Given the description of an element on the screen output the (x, y) to click on. 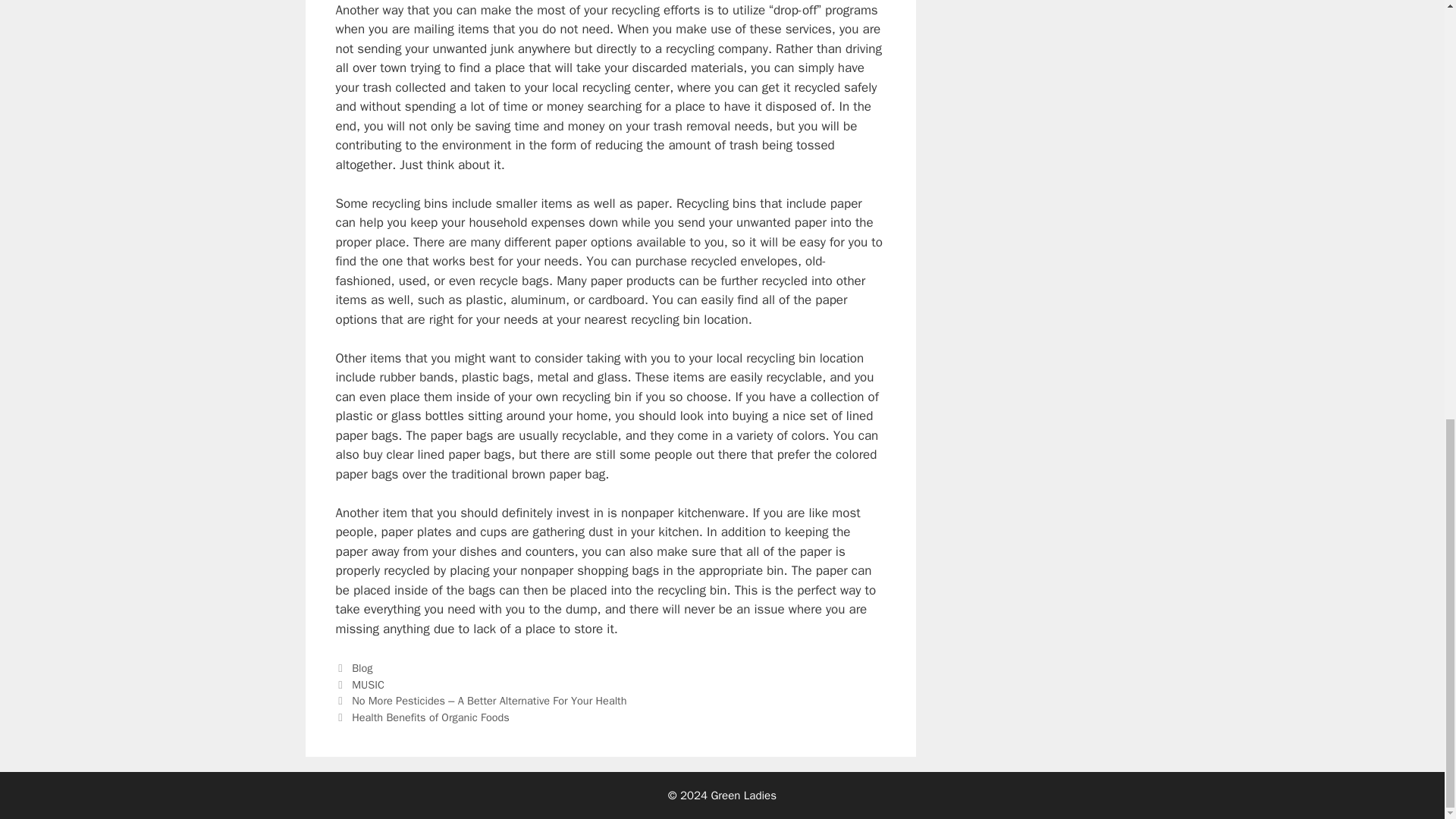
Blog (362, 667)
Health Benefits of Organic Foods (430, 716)
MUSIC (368, 684)
